Given the description of an element on the screen output the (x, y) to click on. 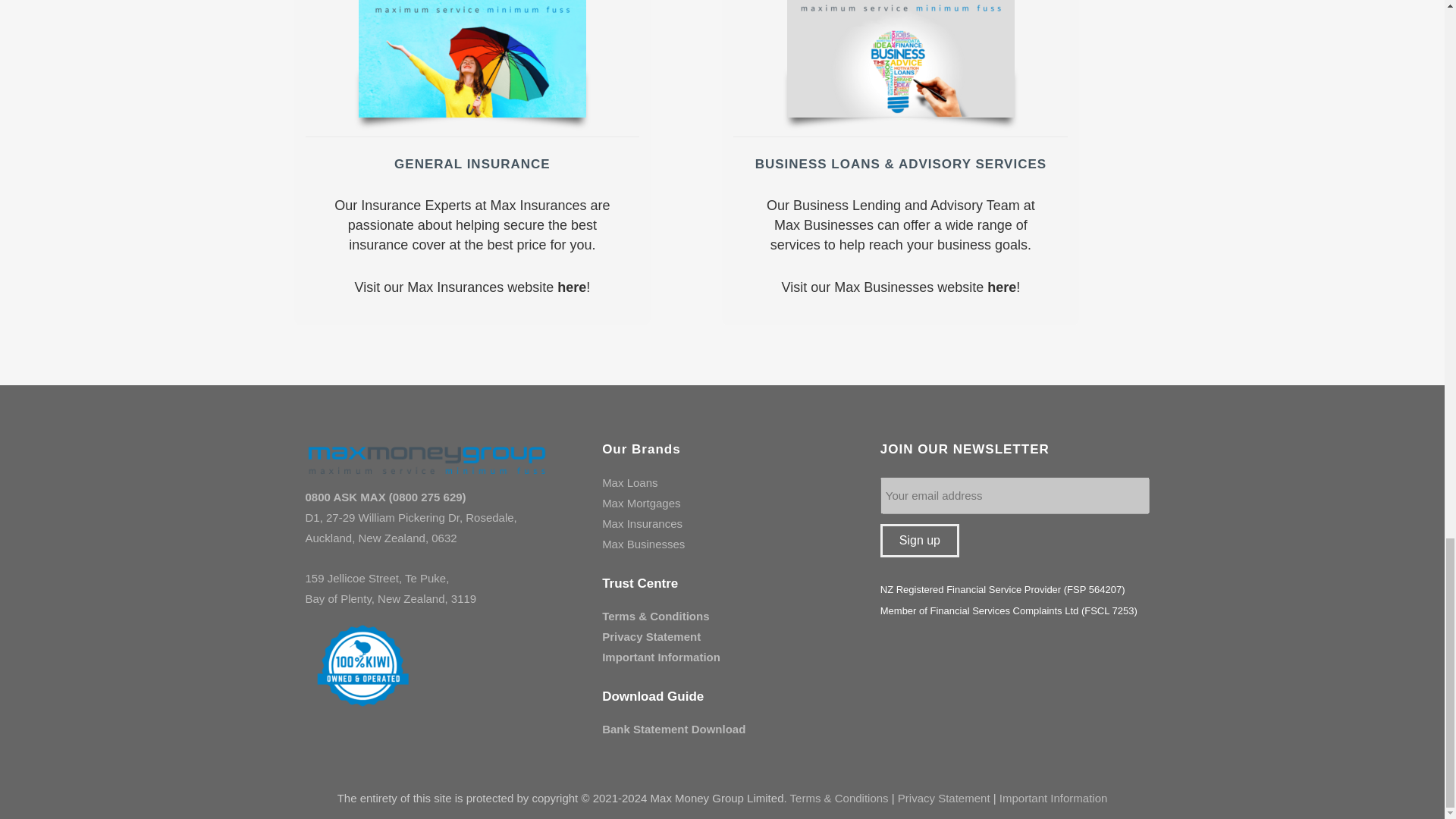
Max Mortgages (640, 502)
Sign up (919, 540)
Max Businesses (643, 543)
Max Loans (630, 481)
here (1001, 287)
here (571, 287)
Max Insurances (642, 522)
